Given the description of an element on the screen output the (x, y) to click on. 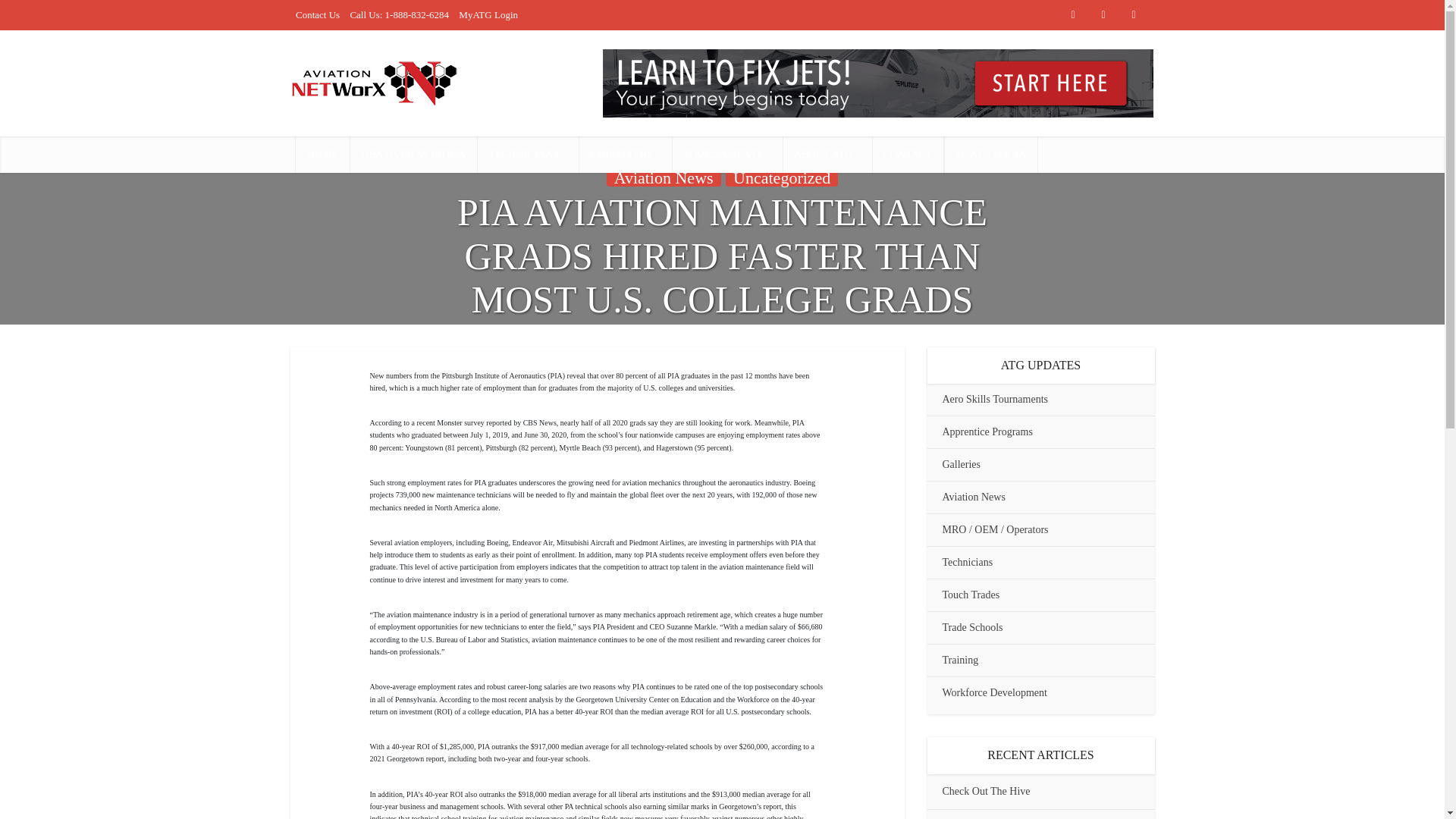
ABOUT ATG (827, 154)
EMPLOYERS (624, 154)
MyATG Login (488, 14)
Contact Us (317, 14)
Call Us: 1-888-832-6284 (398, 14)
TOURNAMENTS (727, 154)
TECHNICIANS (527, 154)
DISCOVER AVIATION (413, 154)
MyATG LOGIN (990, 154)
HOME (322, 154)
